Given the description of an element on the screen output the (x, y) to click on. 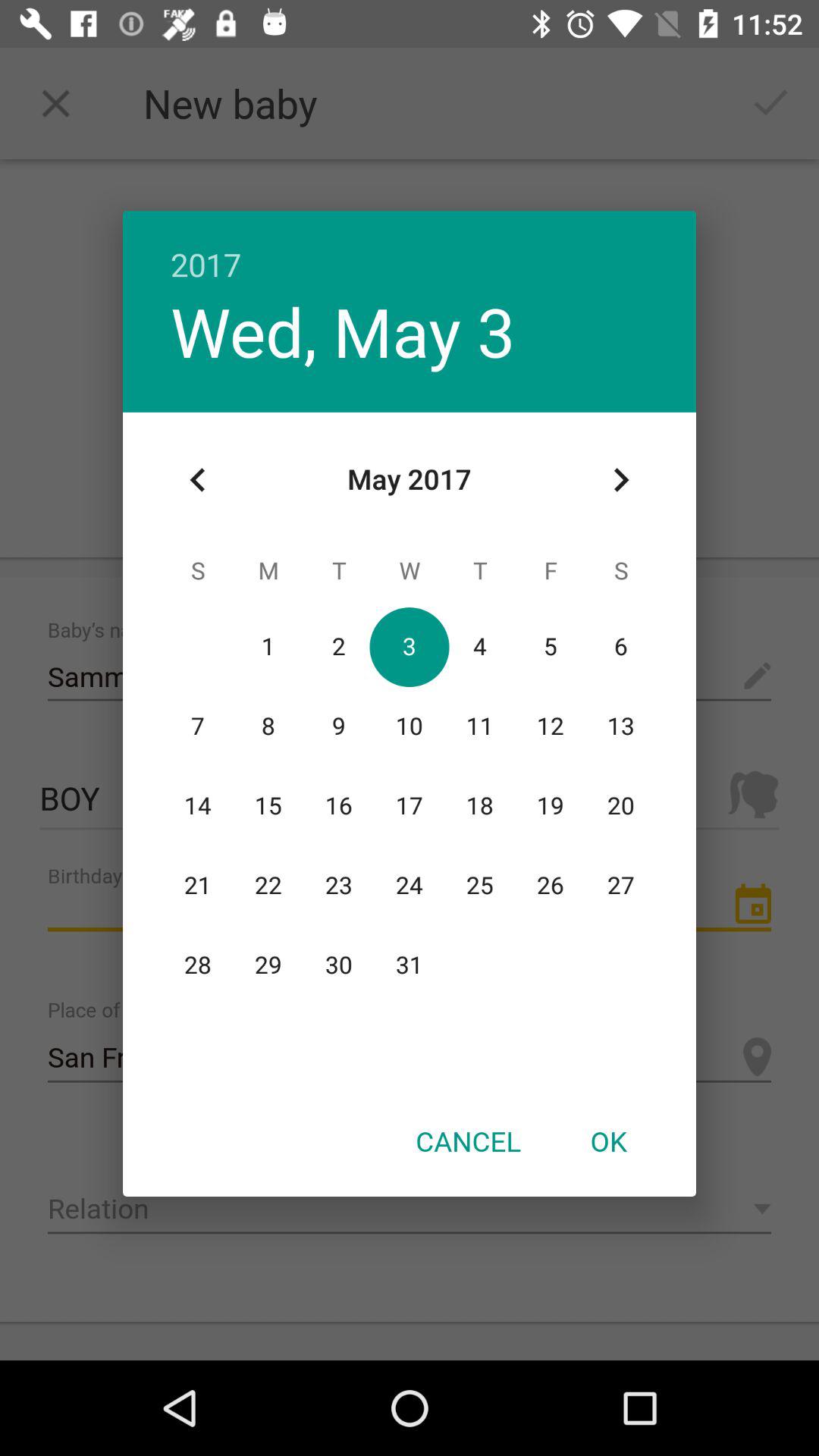
scroll to cancel item (467, 1140)
